Given the description of an element on the screen output the (x, y) to click on. 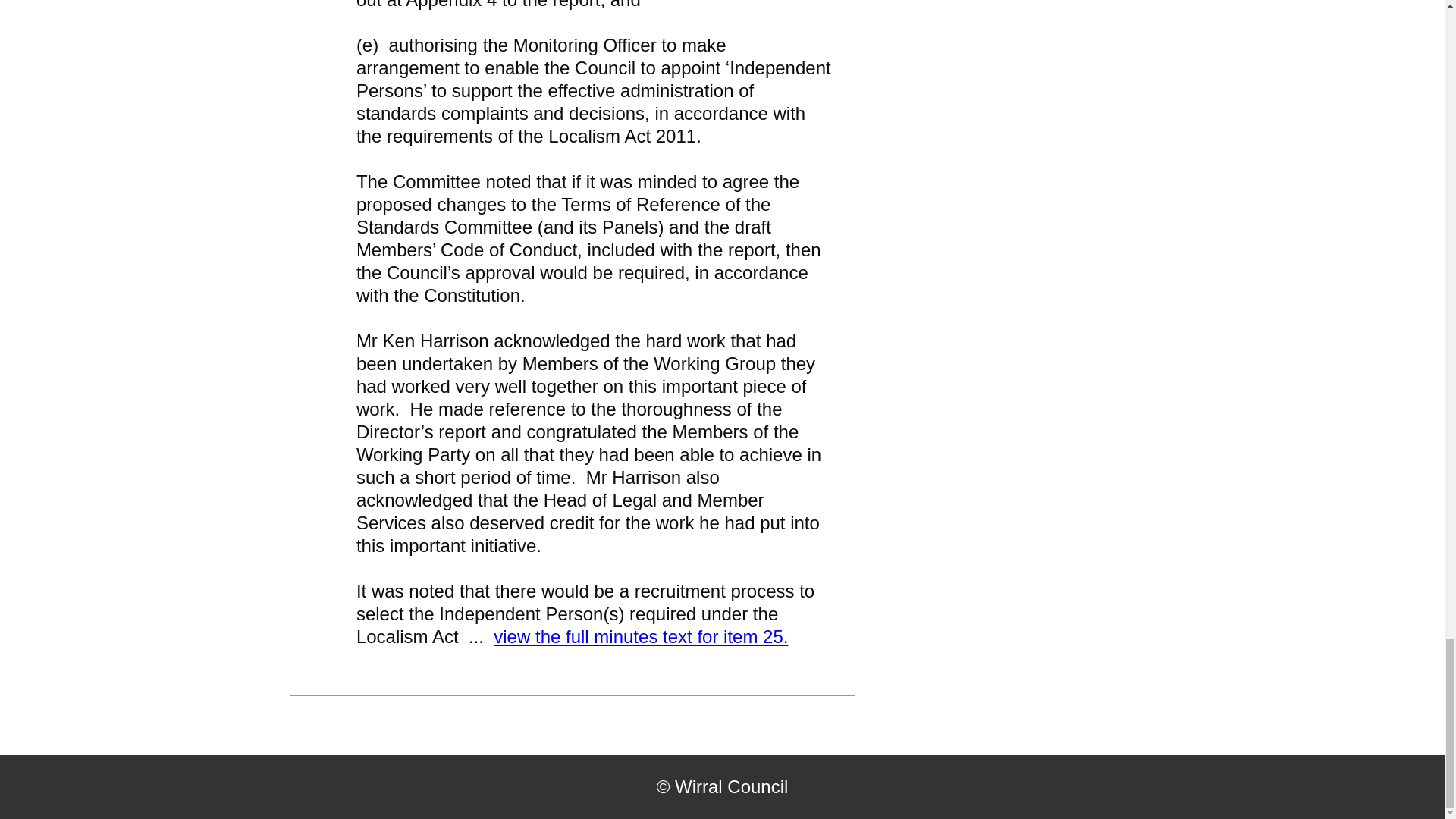
view the full minutes text for item 25. (640, 636)
